Given the description of an element on the screen output the (x, y) to click on. 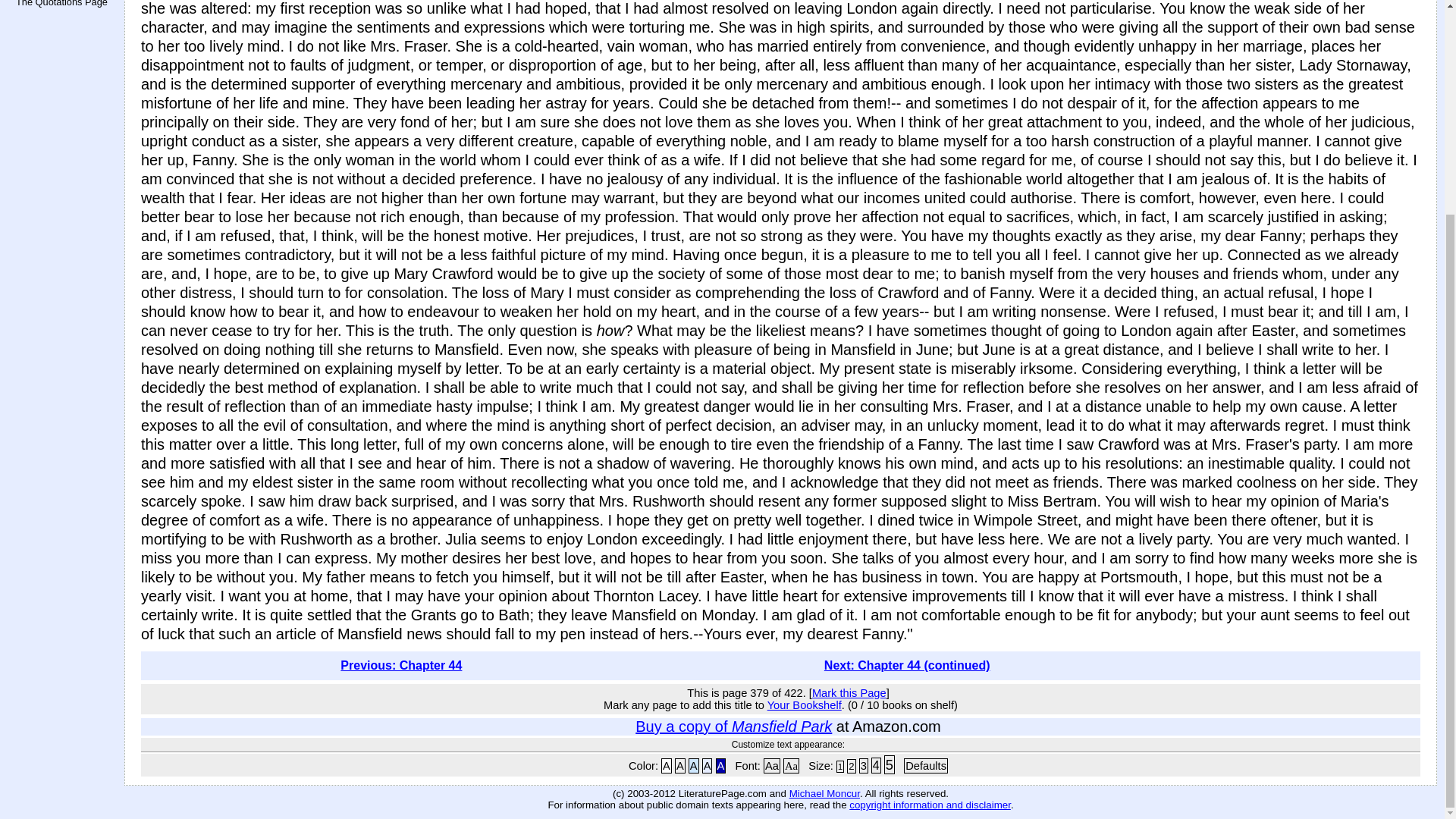
Aa (771, 765)
Buy a copy of Mansfield Park (732, 726)
Mark this Page (849, 693)
Serif (791, 765)
Previous: Chapter 44 (400, 665)
copyright information and disclaimer (929, 804)
Reset to Defaults (925, 765)
Your Bookshelf (804, 705)
Aa (791, 765)
Michael Moncur (824, 793)
